Given the description of an element on the screen output the (x, y) to click on. 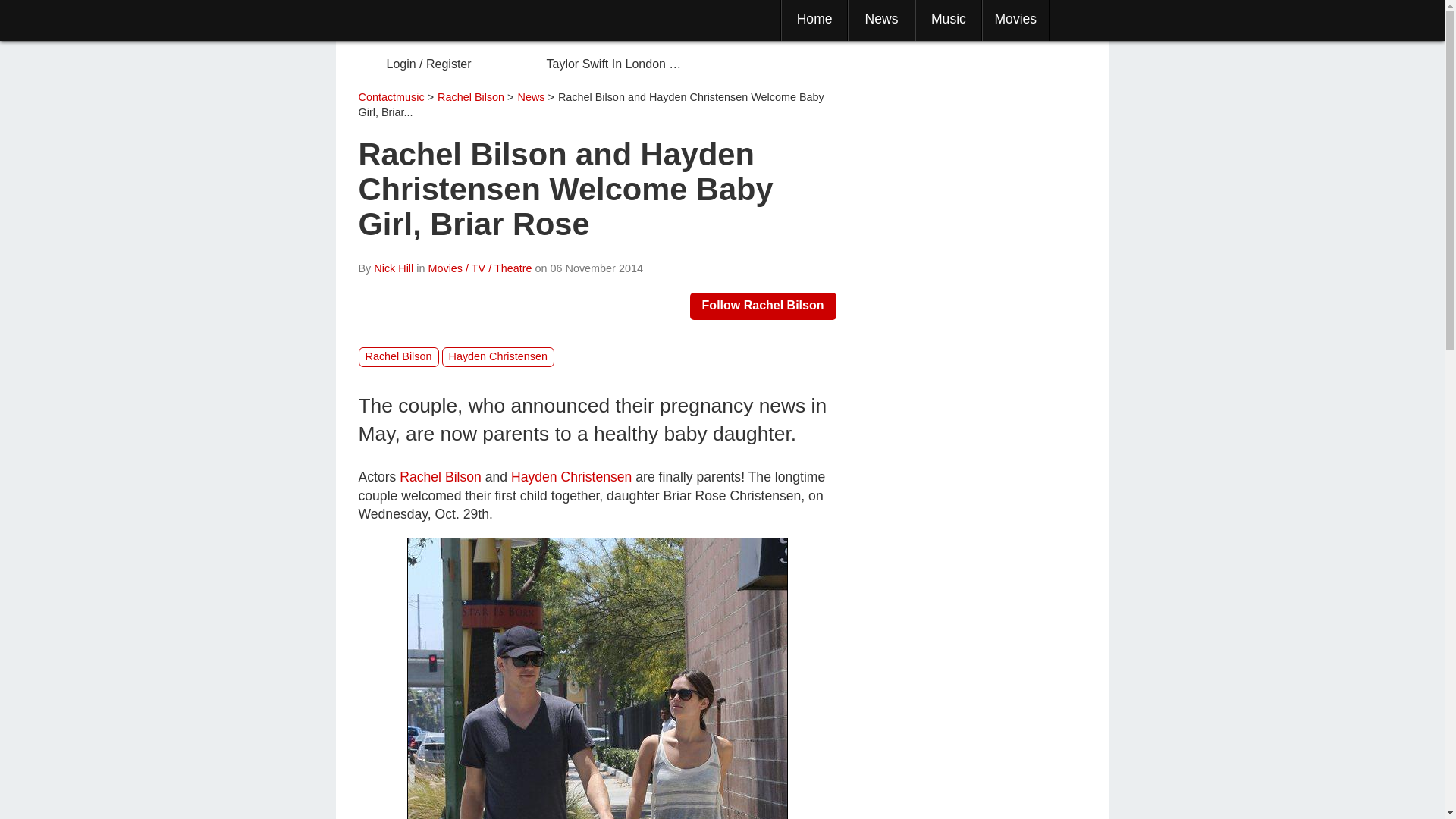
Hayden Christensen (497, 356)
Rachel Bilson (398, 356)
Nick Hill (393, 268)
Rachel Bilson  (596, 678)
Login (401, 63)
News (881, 18)
Rachel Bilson (441, 476)
Follow Rachel Bilson (762, 306)
Register (448, 63)
Movies (1015, 18)
